Given the description of an element on the screen output the (x, y) to click on. 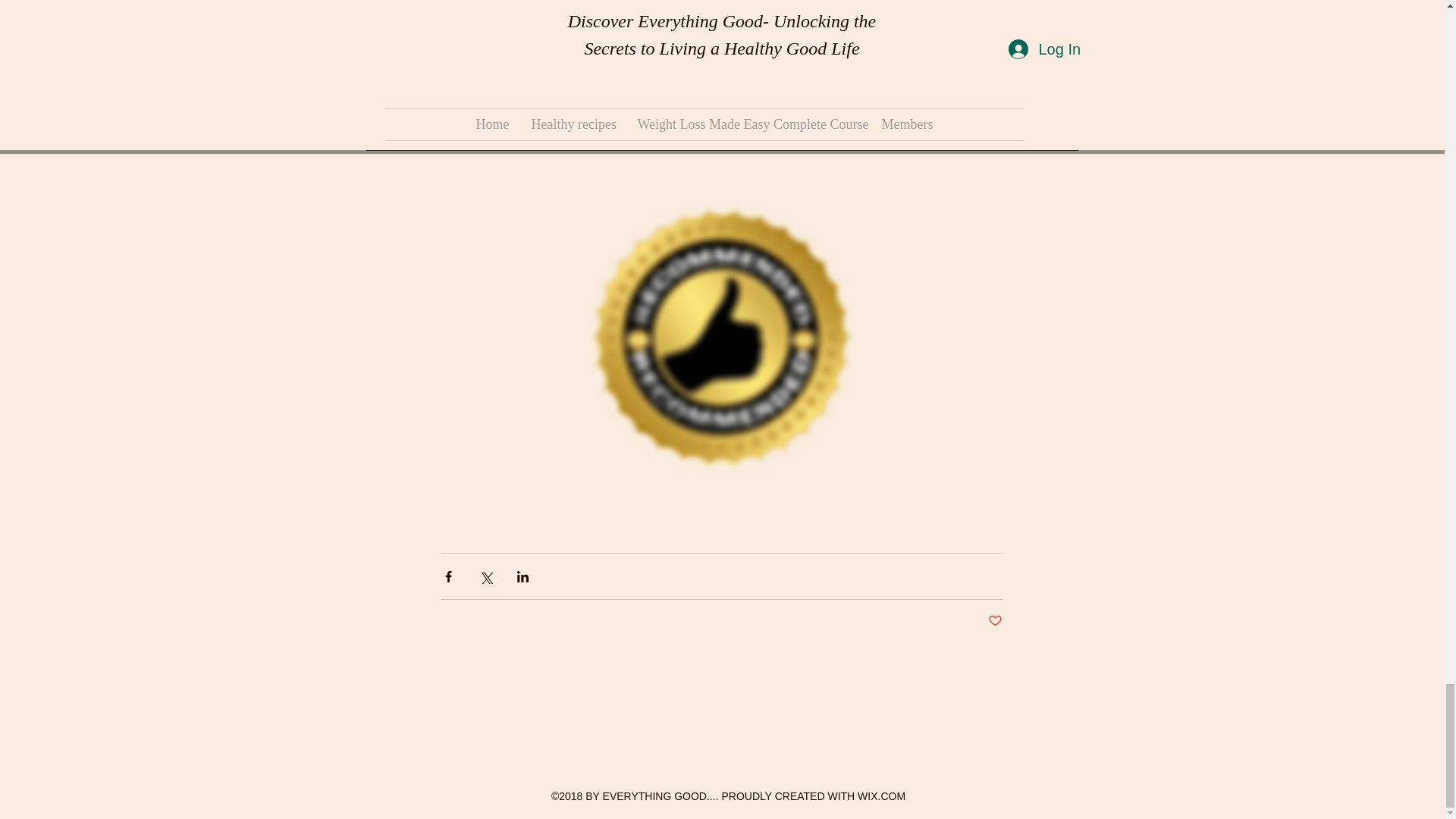
Post not marked as liked (994, 621)
